Given the description of an element on the screen output the (x, y) to click on. 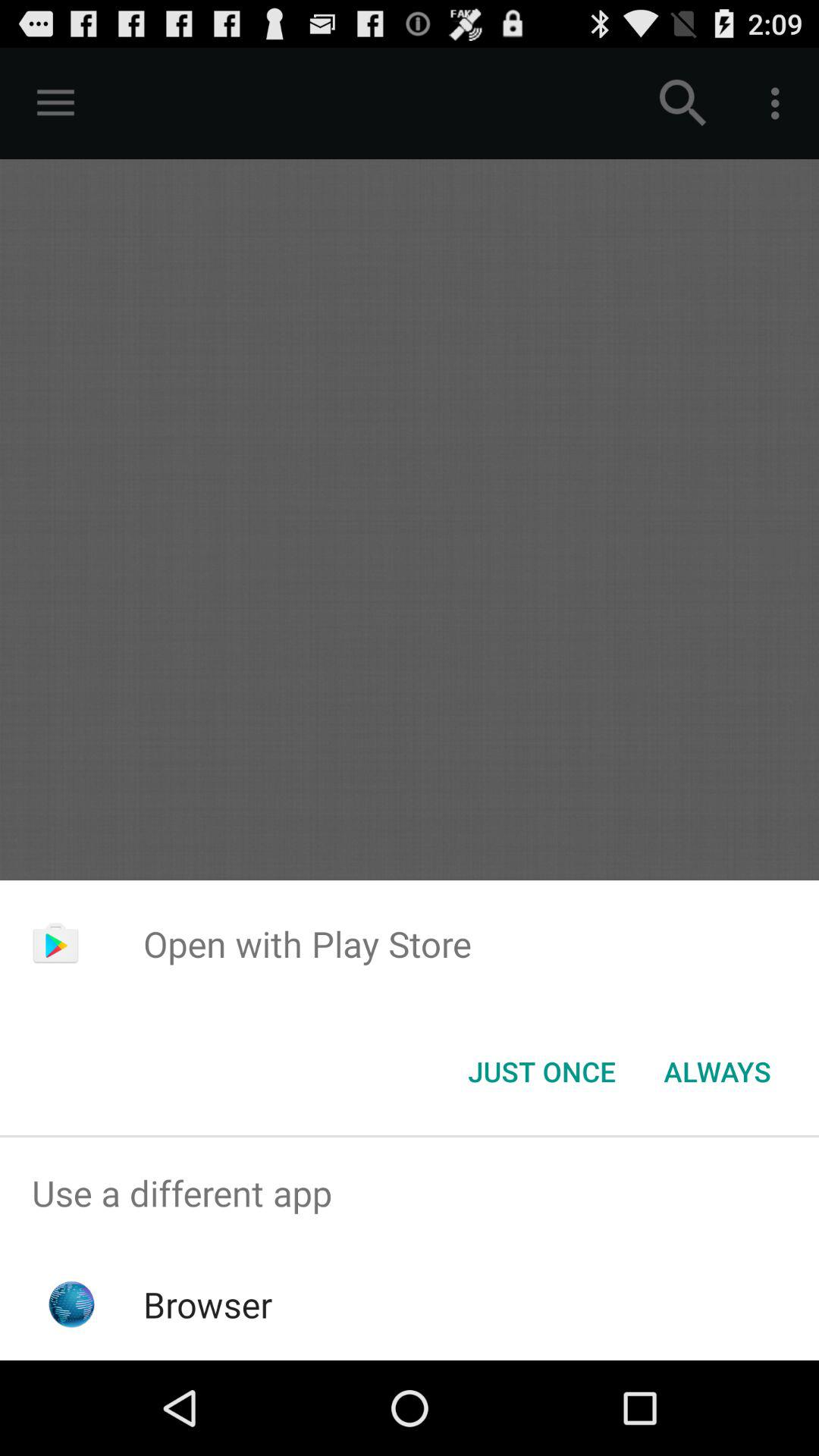
select icon to the right of just once item (717, 1071)
